Given the description of an element on the screen output the (x, y) to click on. 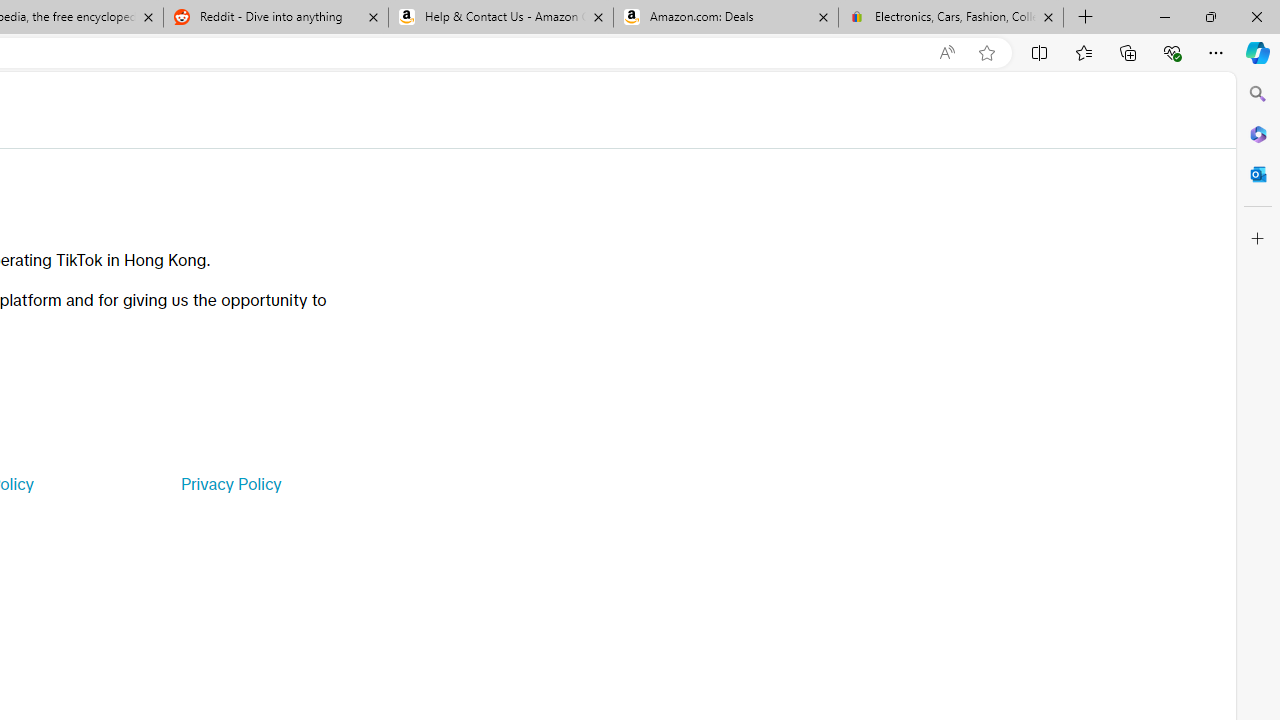
Amazon.com: Deals (726, 17)
